Given the description of an element on the screen output the (x, y) to click on. 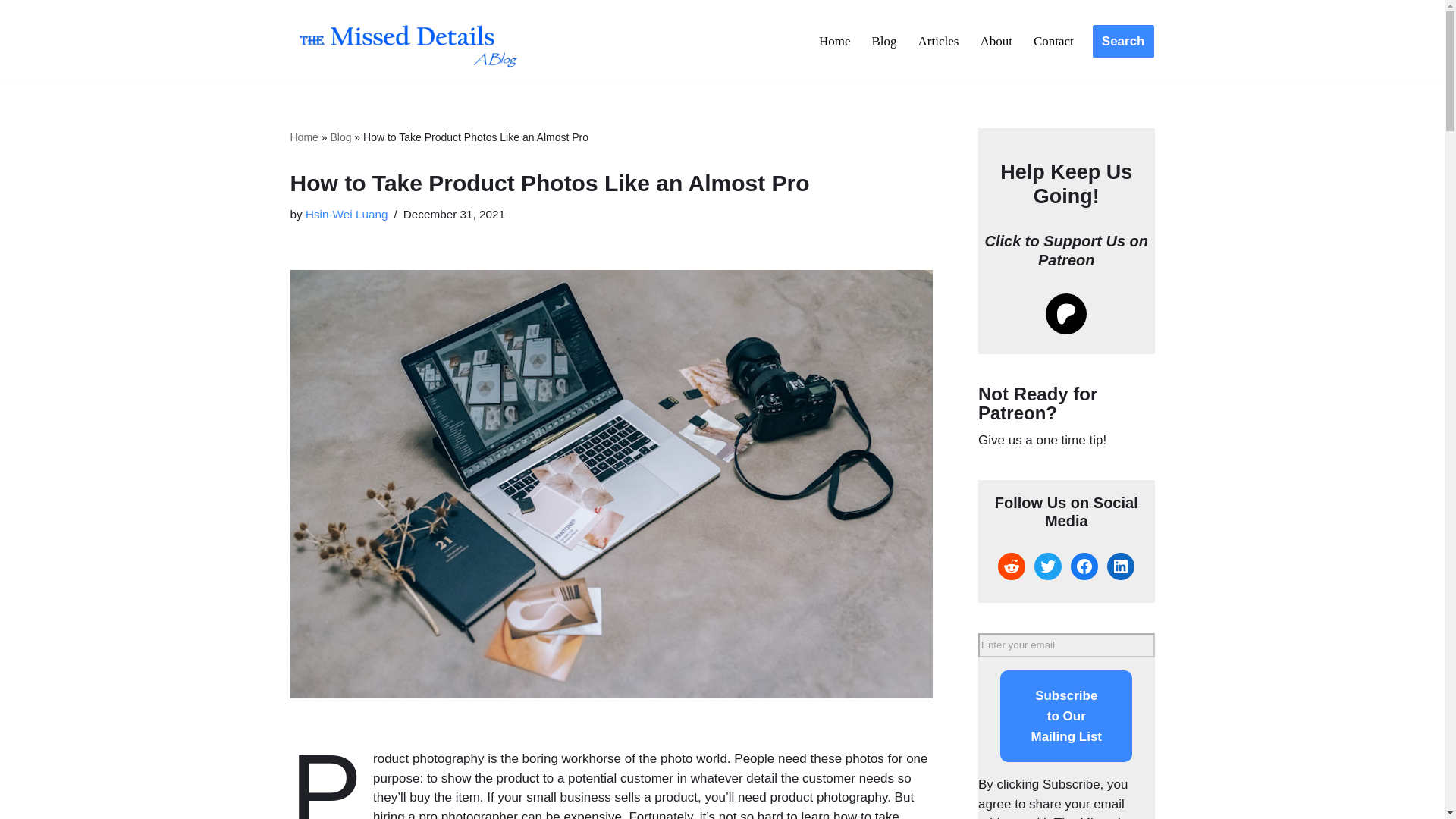
Skip to content (11, 31)
Home (303, 137)
About (995, 40)
Enter your email (1066, 645)
Blog (340, 137)
Hsin-Wei Luang (346, 214)
Posts by Hsin-Wei Luang (346, 214)
Contact (1053, 40)
Articles (938, 40)
Blog (884, 40)
Home (834, 40)
Search (1123, 41)
